Given the description of an element on the screen output the (x, y) to click on. 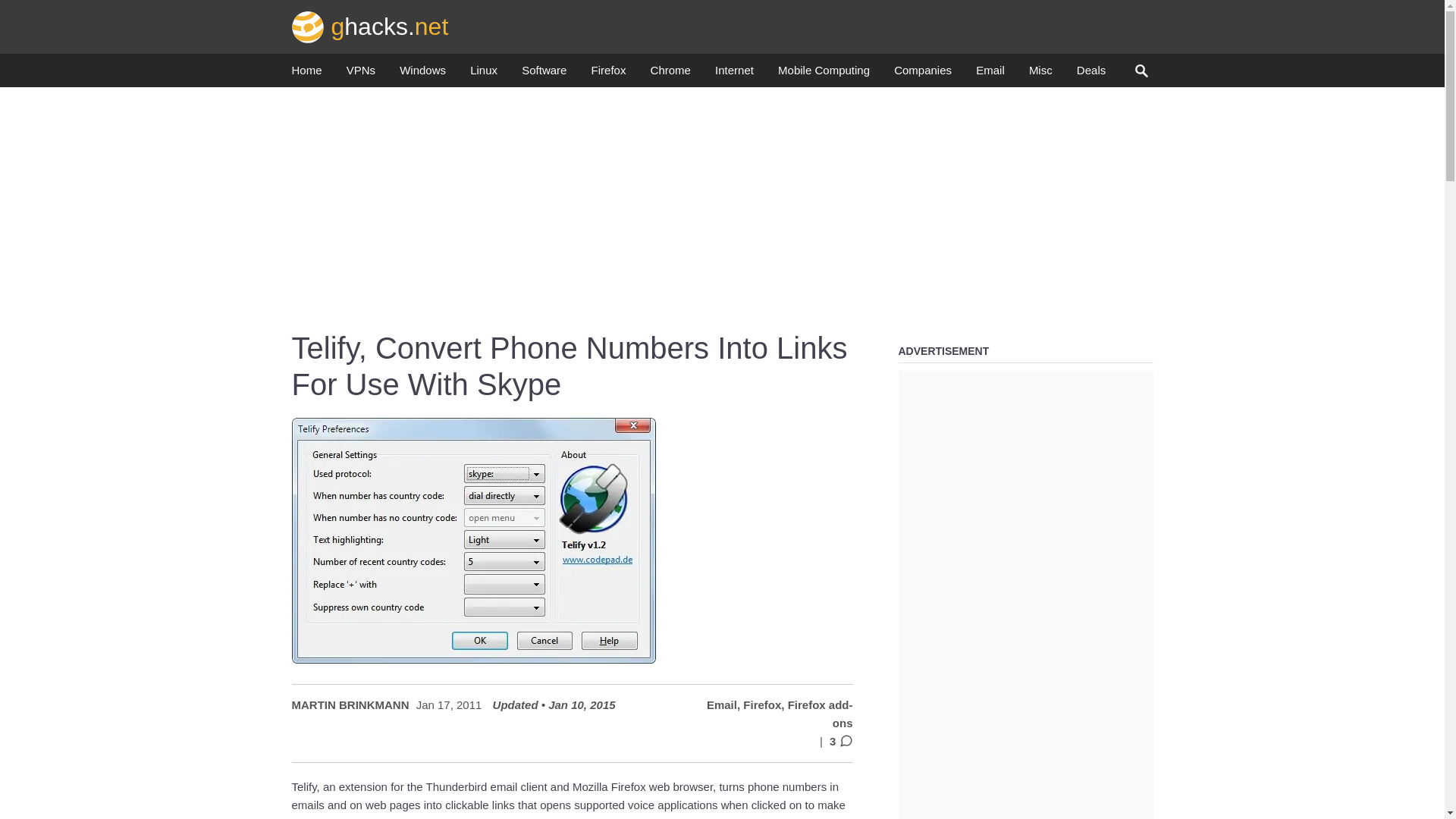
Internet (734, 73)
Mobile Computing (823, 73)
Linux (483, 73)
ghacks.net (369, 26)
Email (989, 73)
Software (543, 73)
VPNs (360, 73)
Deals (1091, 73)
Chrome (670, 73)
Misc (1040, 73)
Windows (421, 73)
Companies (922, 73)
Home (306, 73)
Firefox (608, 73)
